Given the description of an element on the screen output the (x, y) to click on. 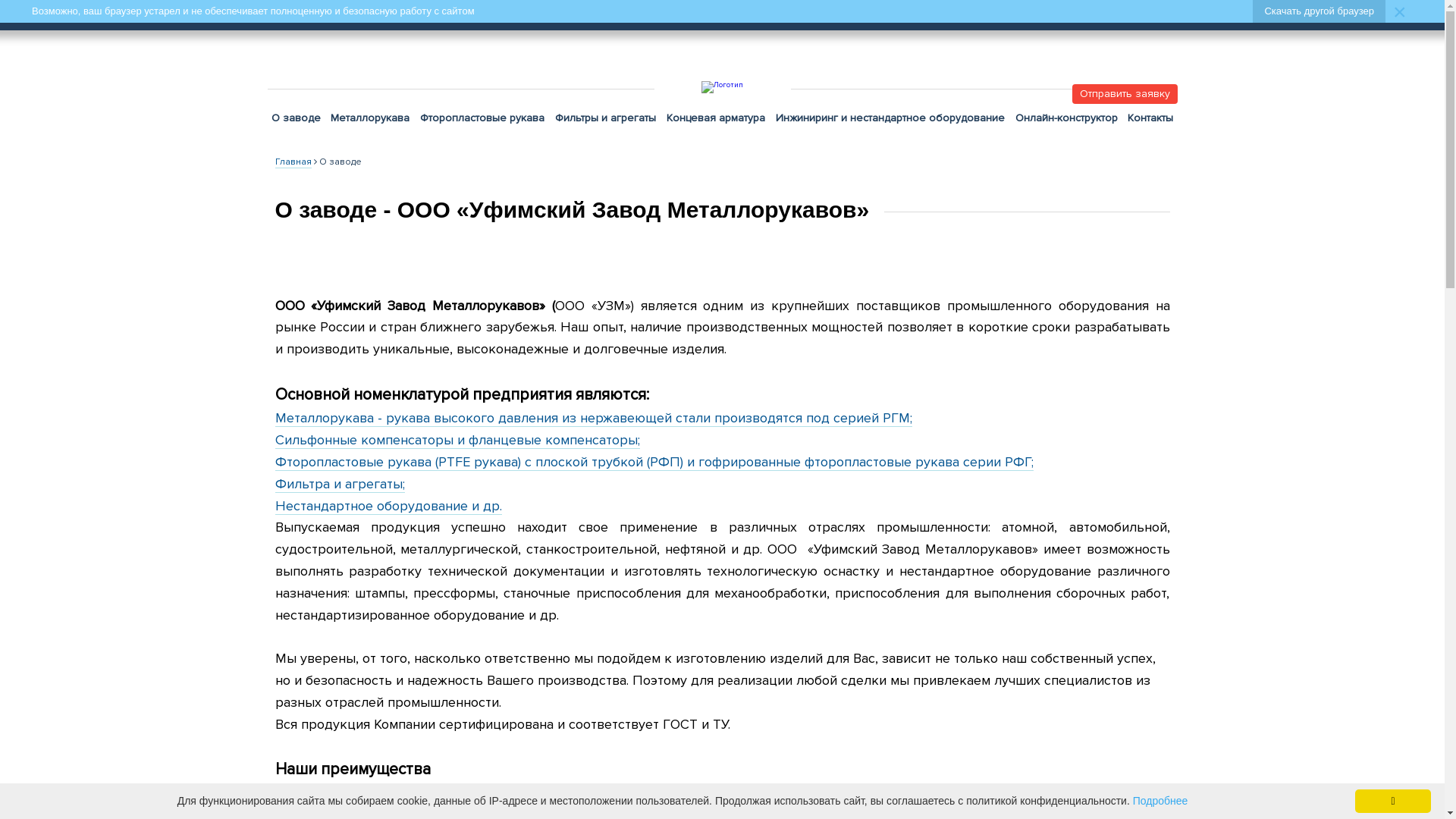
sales@uzmr.ru Element type: text (464, 14)
+7(495)11-11-11, +7(495)22-22-22 Element type: text (1162, 14)
Eng Element type: text (934, 14)
